Given the description of an element on the screen output the (x, y) to click on. 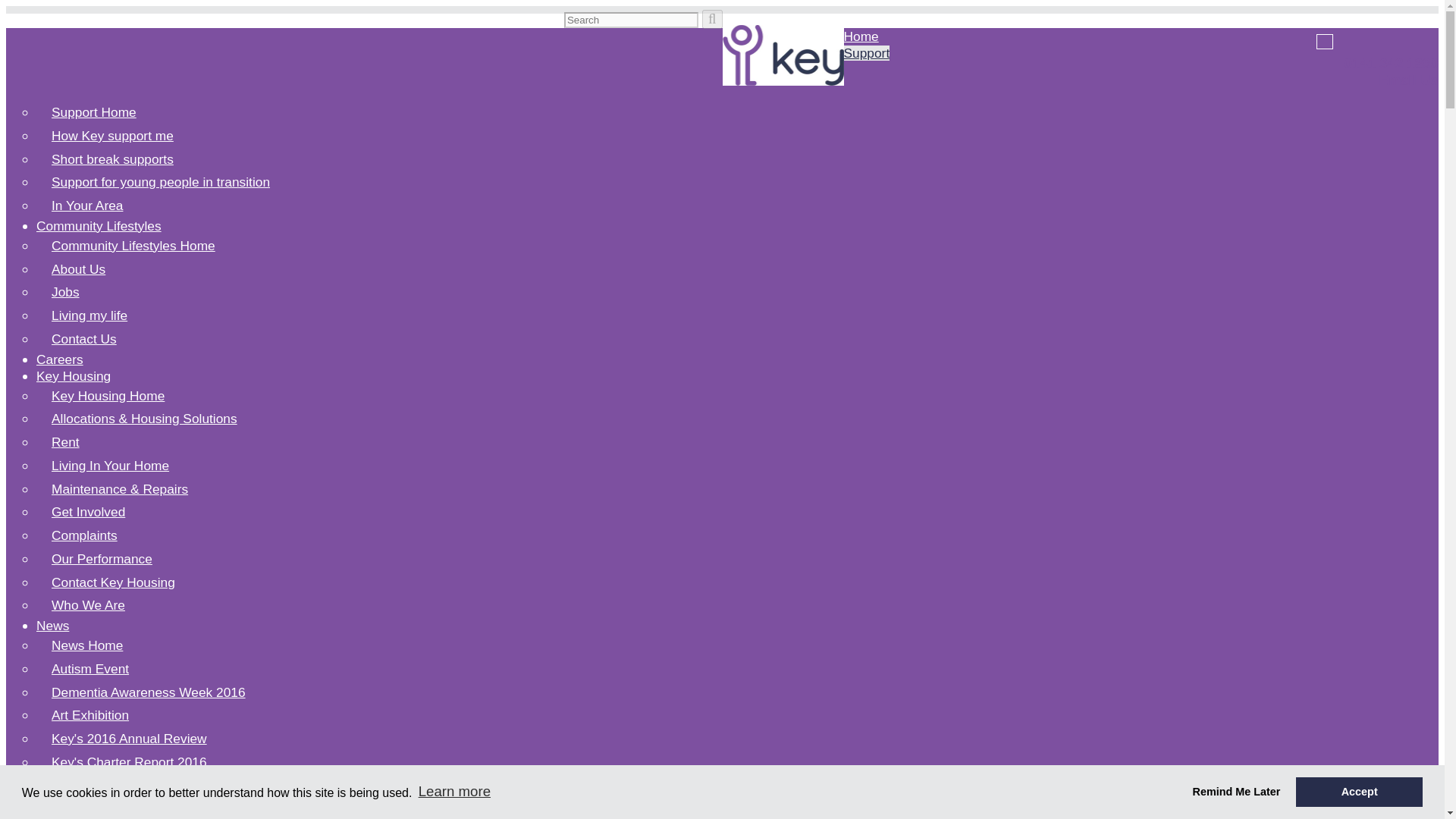
Remind Me Later (1236, 791)
Toggle navigation (1324, 41)
Careers (59, 359)
Accept (1358, 791)
Key logo (782, 55)
Home (860, 36)
Learn more (453, 791)
